Given the description of an element on the screen output the (x, y) to click on. 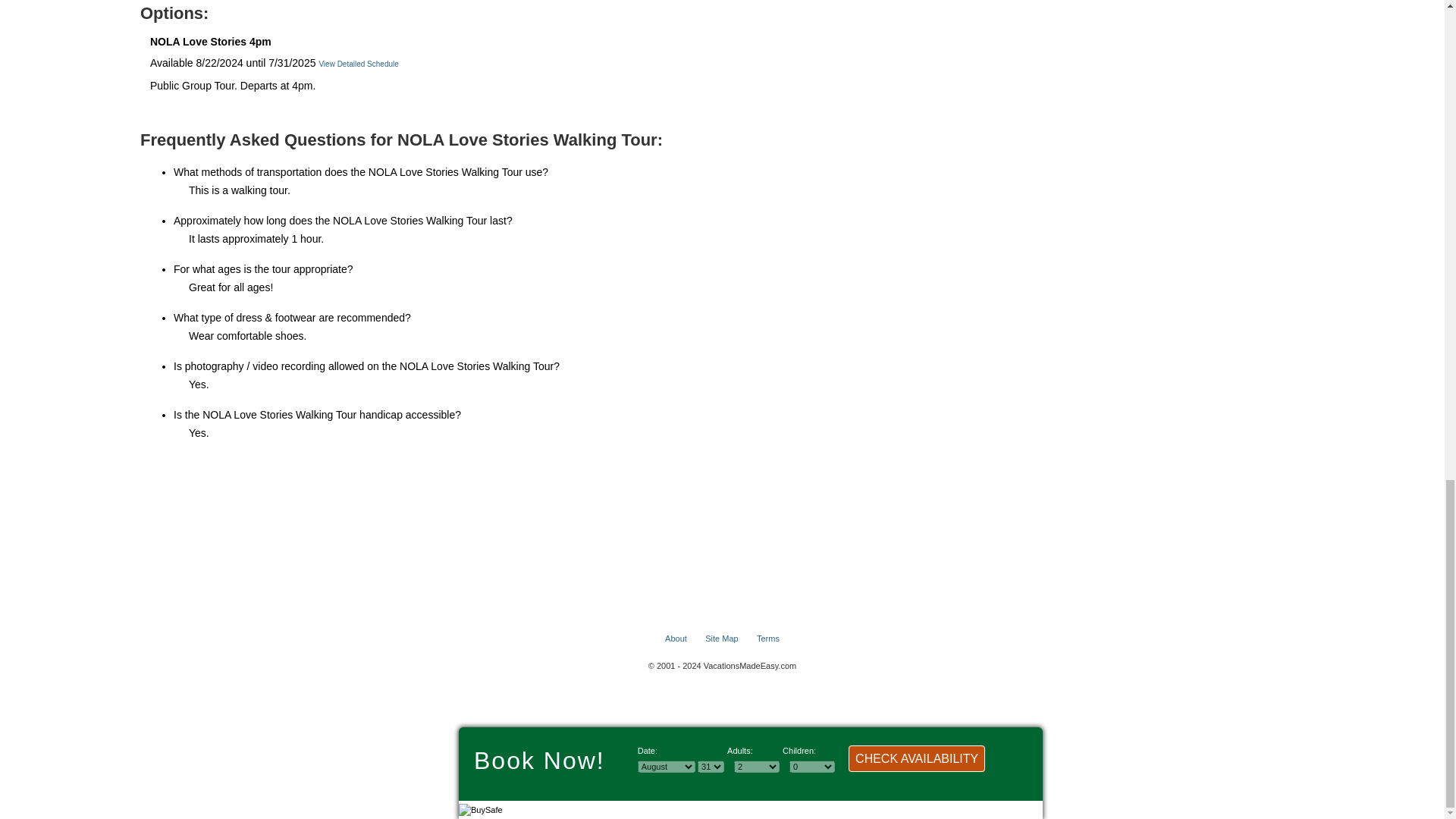
View Detailed Schedule (357, 63)
Terms (767, 637)
Site Map (721, 637)
About (676, 637)
